Given the description of an element on the screen output the (x, y) to click on. 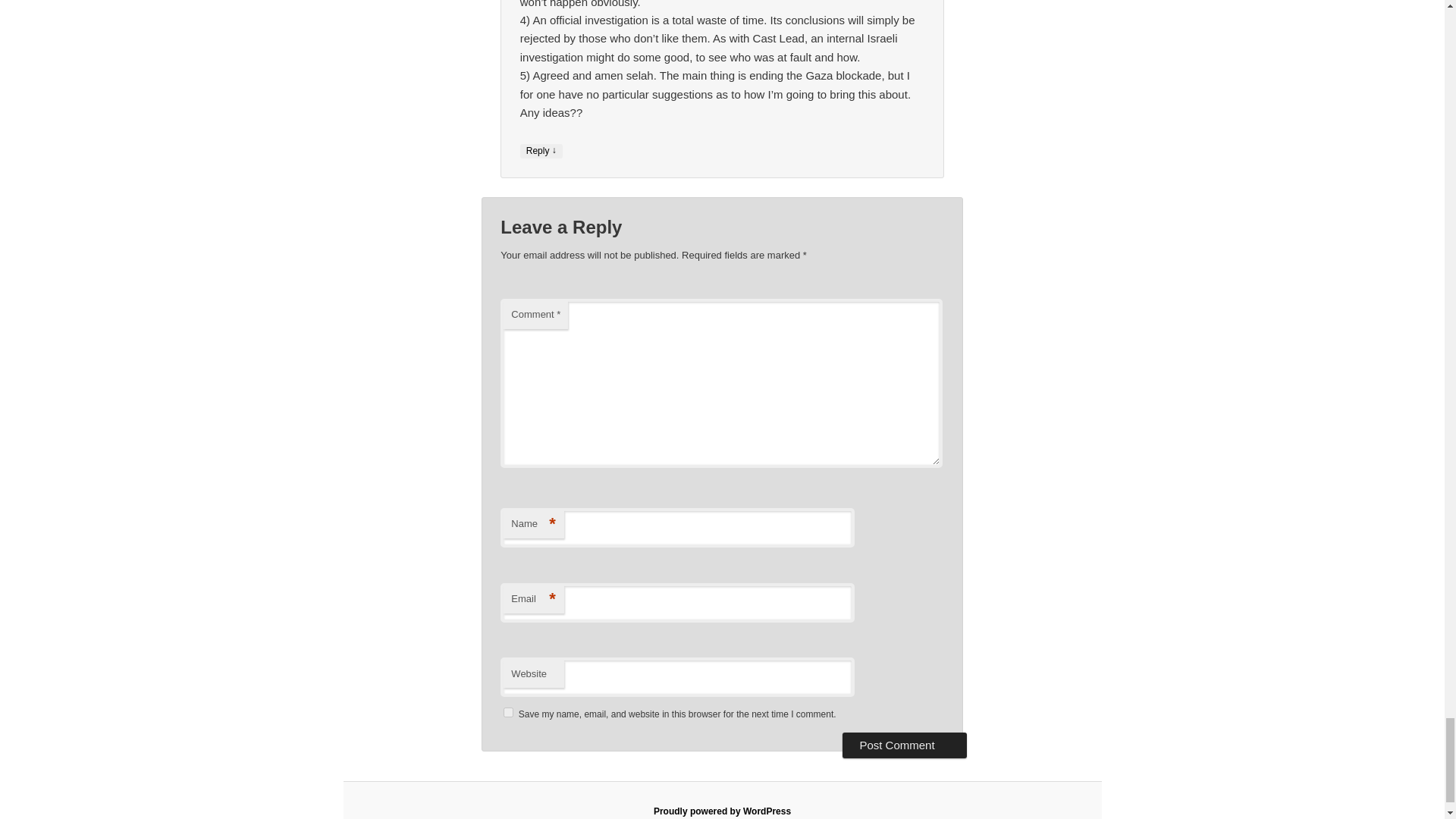
yes (508, 712)
Semantic Personal Publishing Platform (721, 810)
Post Comment (904, 745)
